Given the description of an element on the screen output the (x, y) to click on. 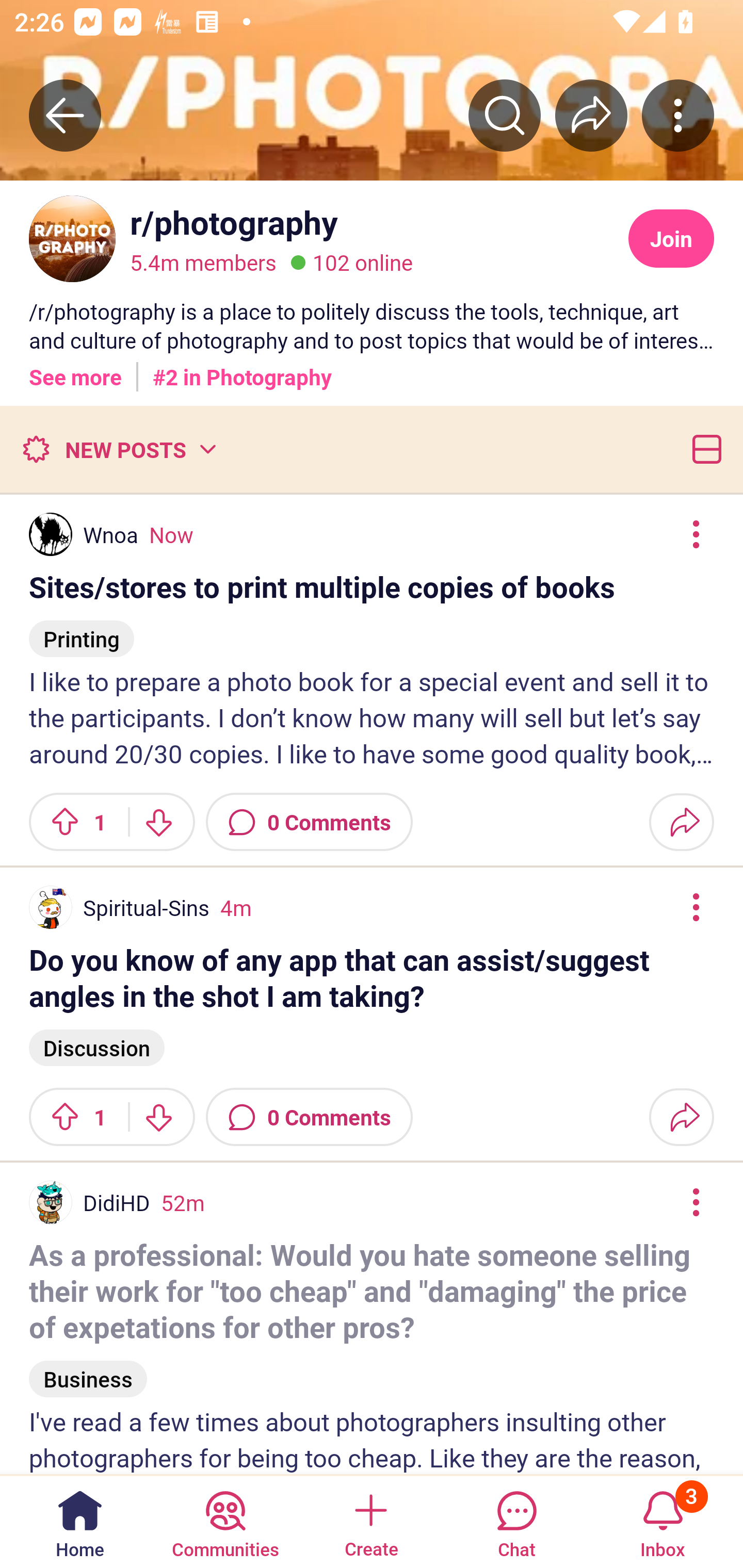
Back (64, 115)
Search r/﻿photography (504, 115)
Share r/﻿photography (591, 115)
More community actions (677, 115)
New posts NEW POSTS (118, 449)
Card (703, 449)
Printing (81, 629)
Discussion (96, 1046)
Business (87, 1369)
Home (80, 1520)
Communities (225, 1520)
Create a post Create (370, 1520)
Chat (516, 1520)
Inbox, has 3 notifications 3 Inbox (662, 1520)
